Given the description of an element on the screen output the (x, y) to click on. 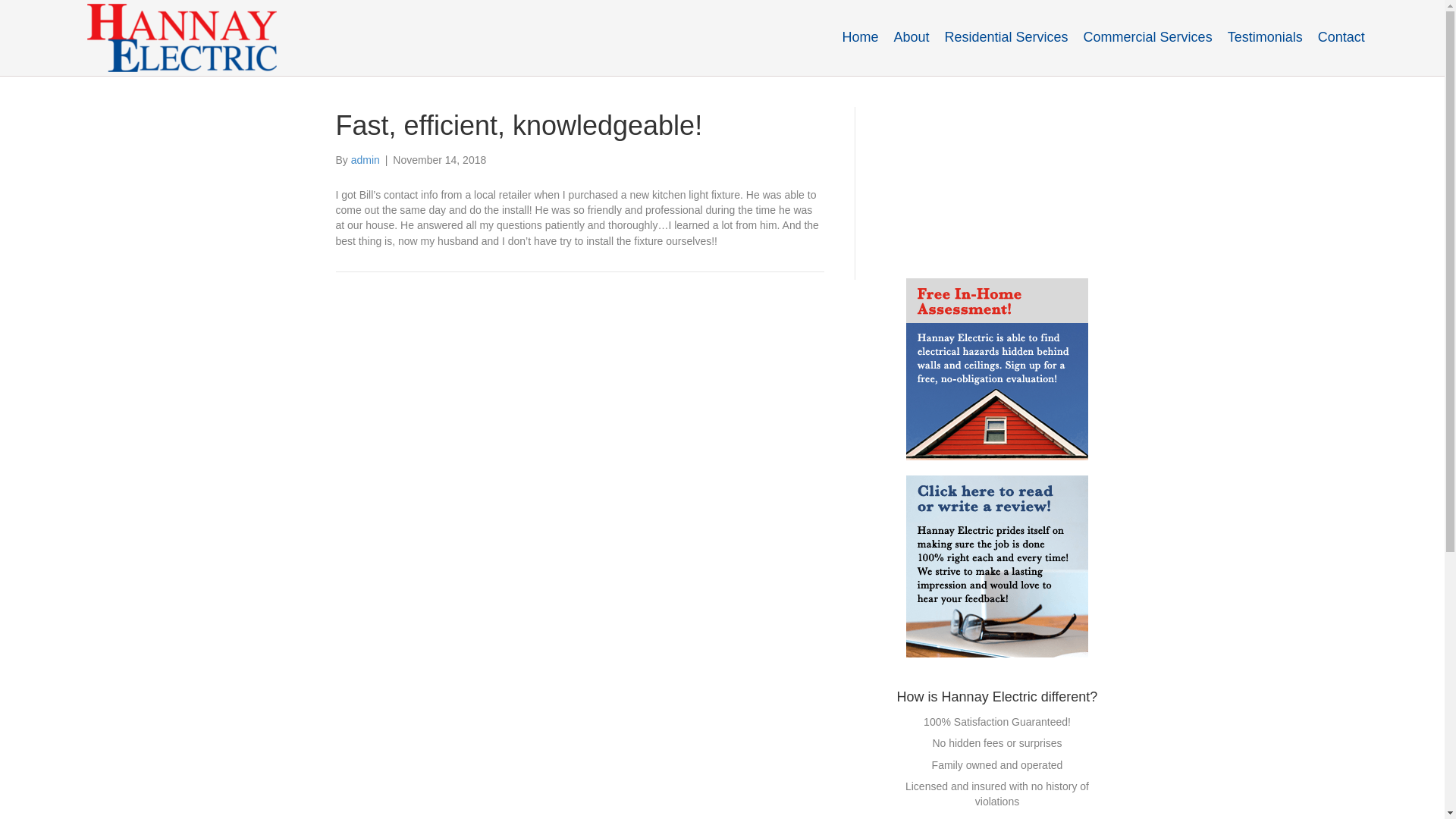
Home (859, 37)
admin (365, 159)
Testimonials (1265, 37)
Residential Services (1006, 37)
About (910, 37)
Commercial Services (1147, 37)
Contact (1341, 37)
